Given the description of an element on the screen output the (x, y) to click on. 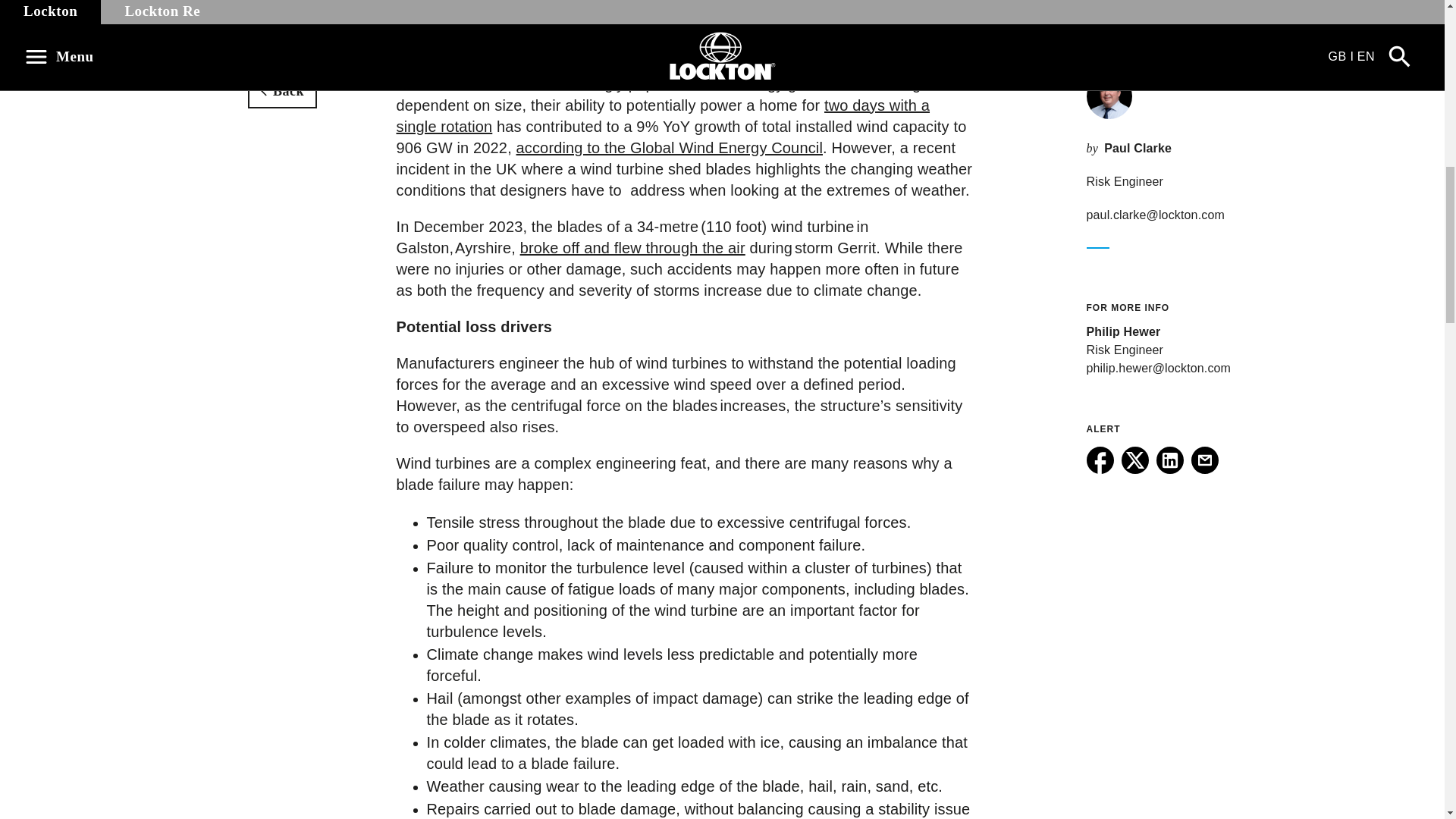
Send Lockton an Email (1204, 469)
Follow Lockton on Facebook (1099, 469)
undefinedTwitter (1134, 460)
Back (282, 90)
Share Lockton on Facebook (1099, 469)
undefinedLinkedIn (1169, 460)
Share Lockton on Twitter (1134, 469)
Follow Lockton on Twitter (1134, 469)
undefinedFacebook (1099, 460)
Follow Lockton on Email (1204, 469)
Share Lockton on LinkedIn (1169, 469)
Follow Lockton on LinkedIn (1169, 469)
